Given the description of an element on the screen output the (x, y) to click on. 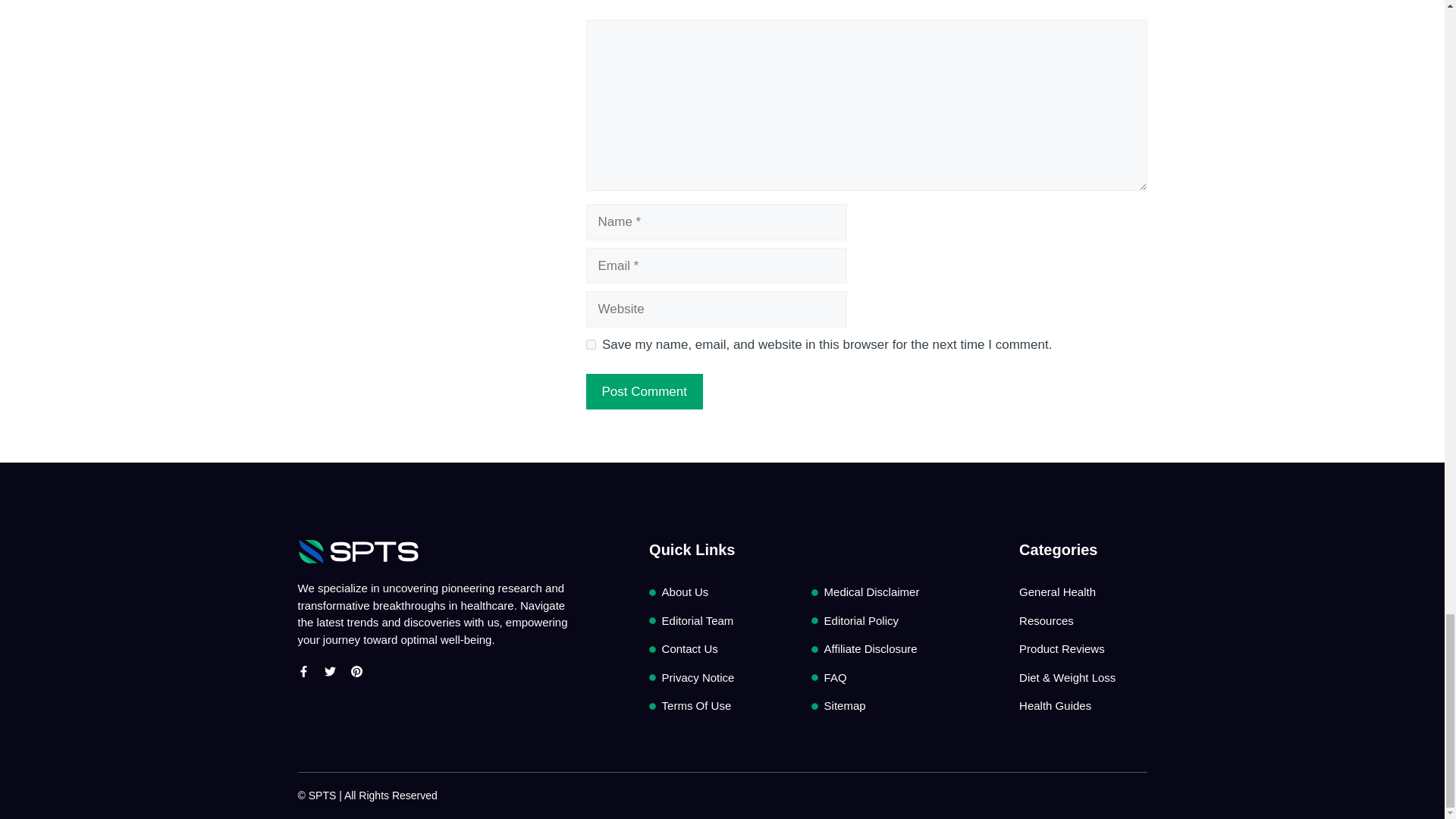
SPTS-White (358, 551)
yes (590, 344)
Post Comment (643, 391)
